Given the description of an element on the screen output the (x, y) to click on. 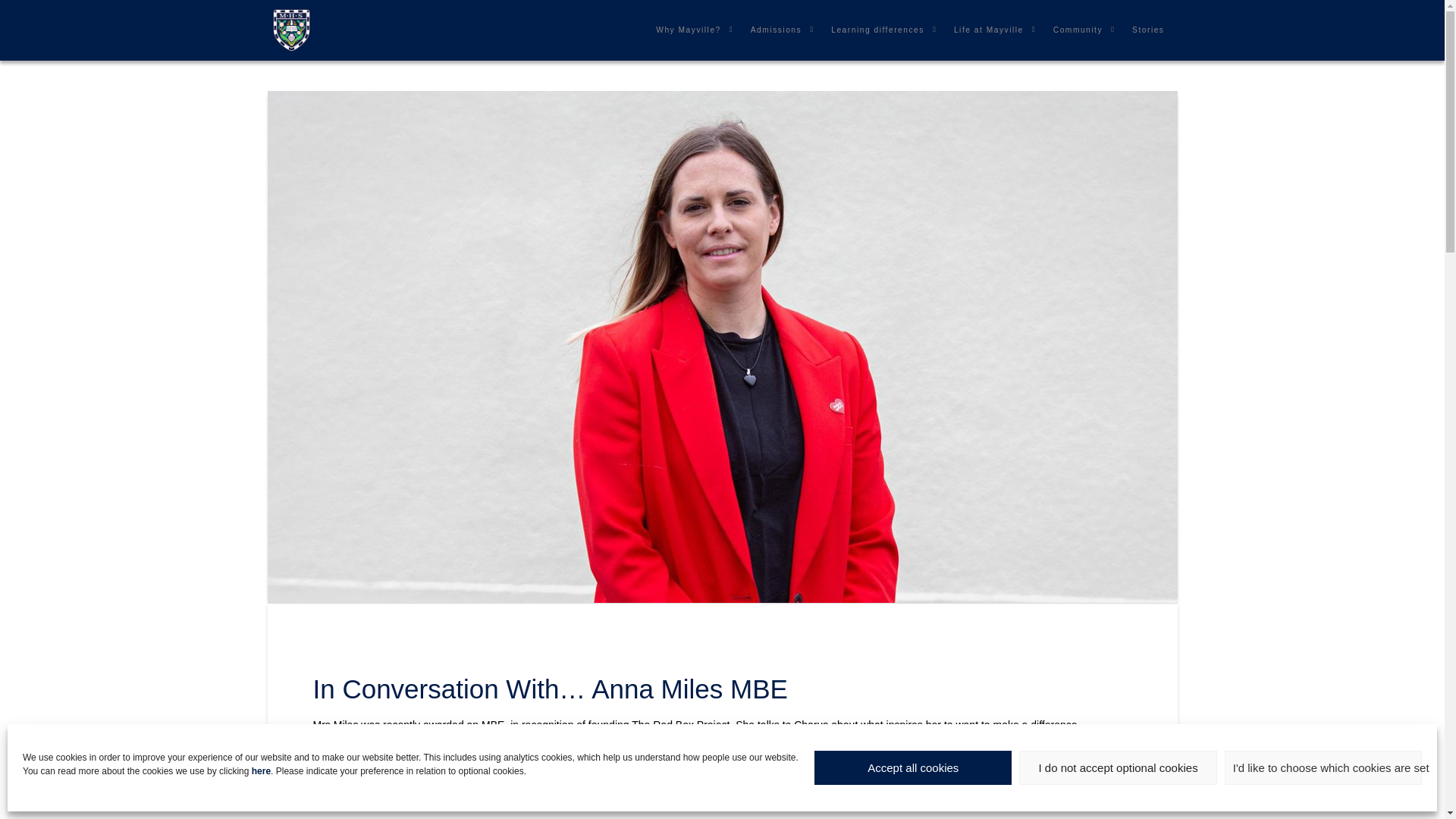
Why Mayville? (689, 30)
Learning differences (879, 30)
Accept all cookies (912, 767)
I'd like to choose which cookies are set (1323, 767)
Life at Mayville (990, 30)
here (260, 770)
Admissions (778, 30)
I do not accept optional cookies (1117, 767)
